Given the description of an element on the screen output the (x, y) to click on. 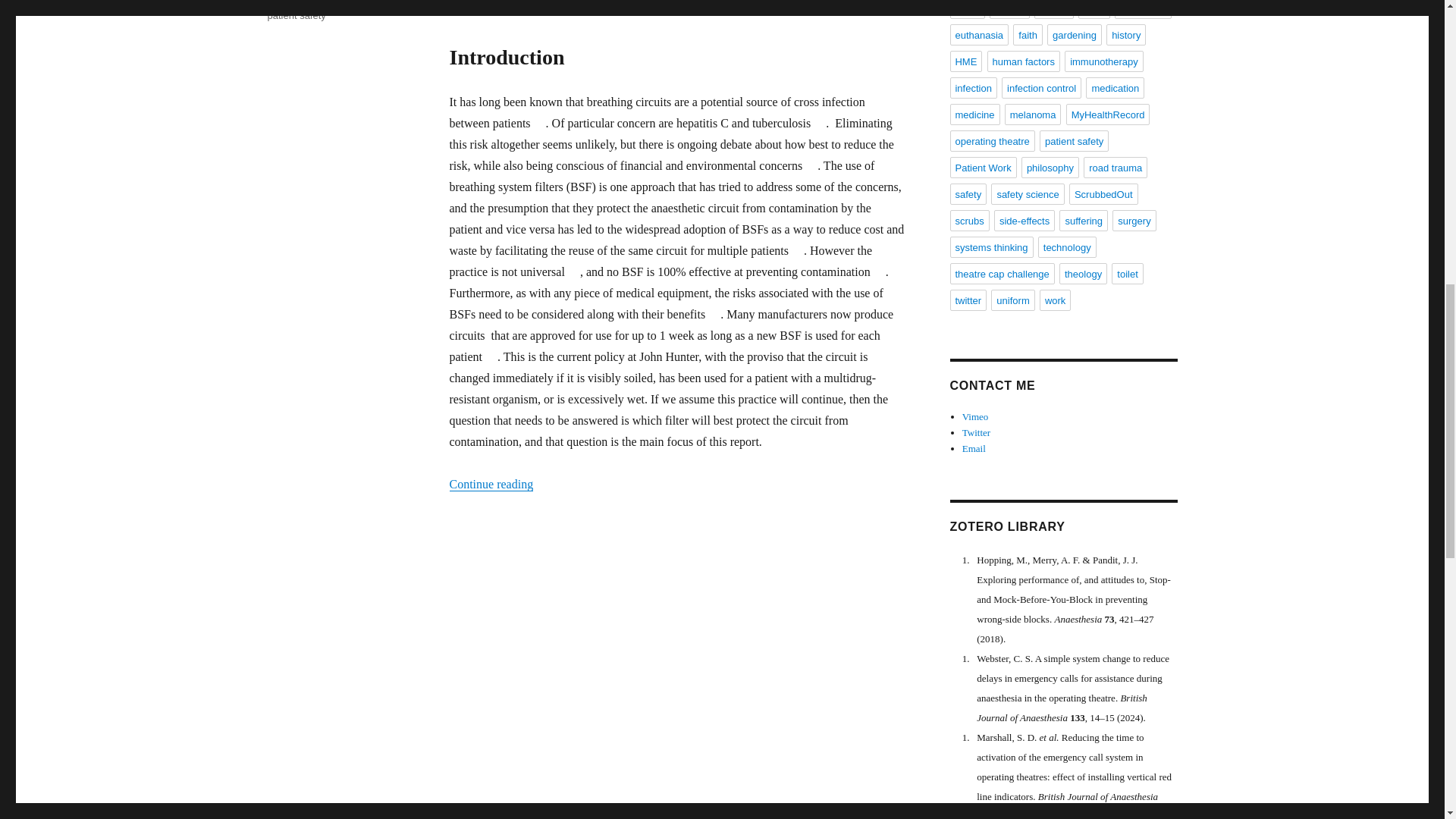
infection (368, 2)
filter (275, 2)
HME (302, 2)
patient safety (295, 15)
HMEF (331, 2)
